Given the description of an element on the screen output the (x, y) to click on. 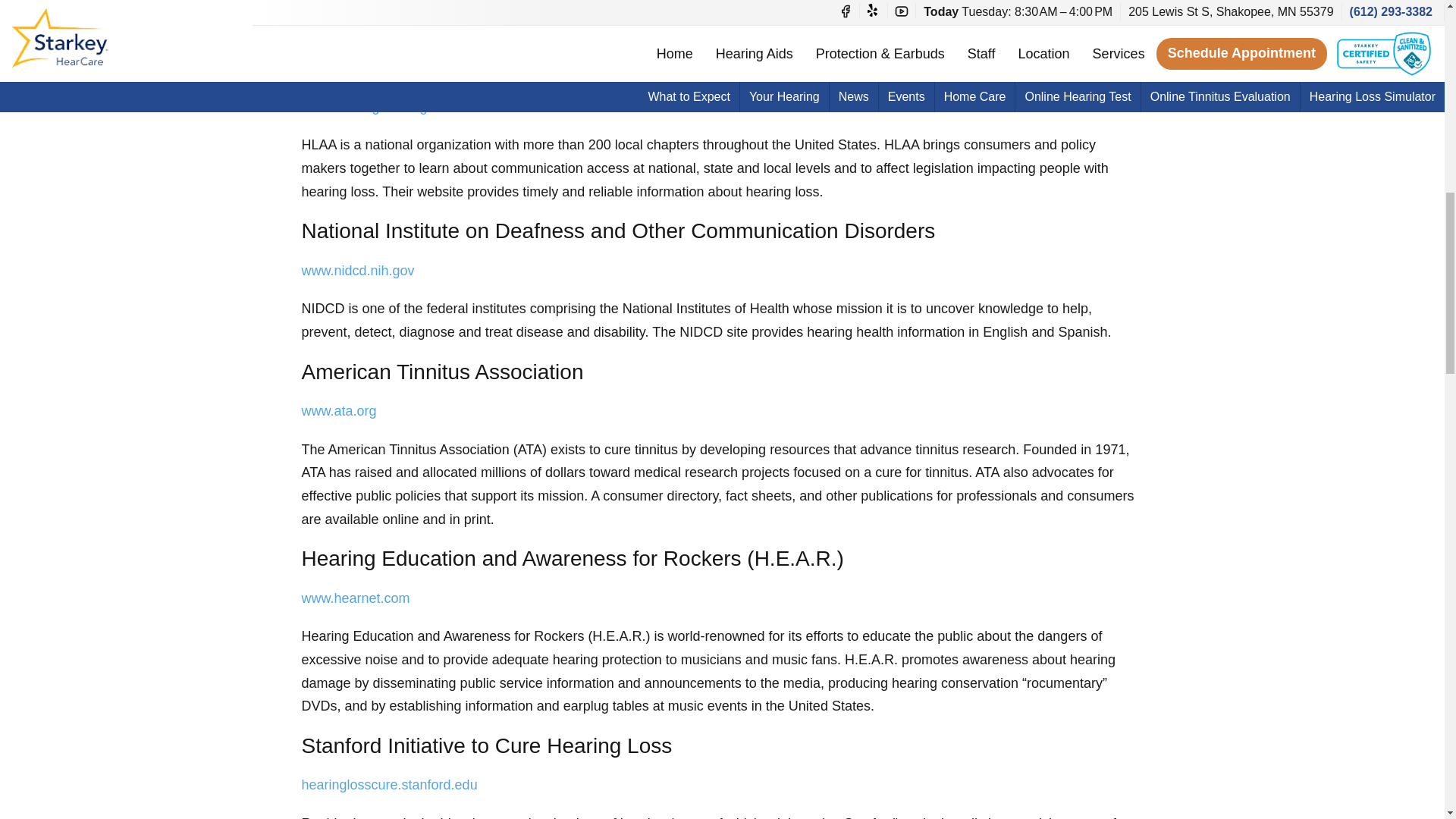
www.hearingloss.org (364, 106)
www.ata.org (339, 410)
hearinglosscure.stanford.edu (389, 784)
www.hearnet.com (355, 598)
www.nidcd.nih.gov (357, 270)
